Given the description of an element on the screen output the (x, y) to click on. 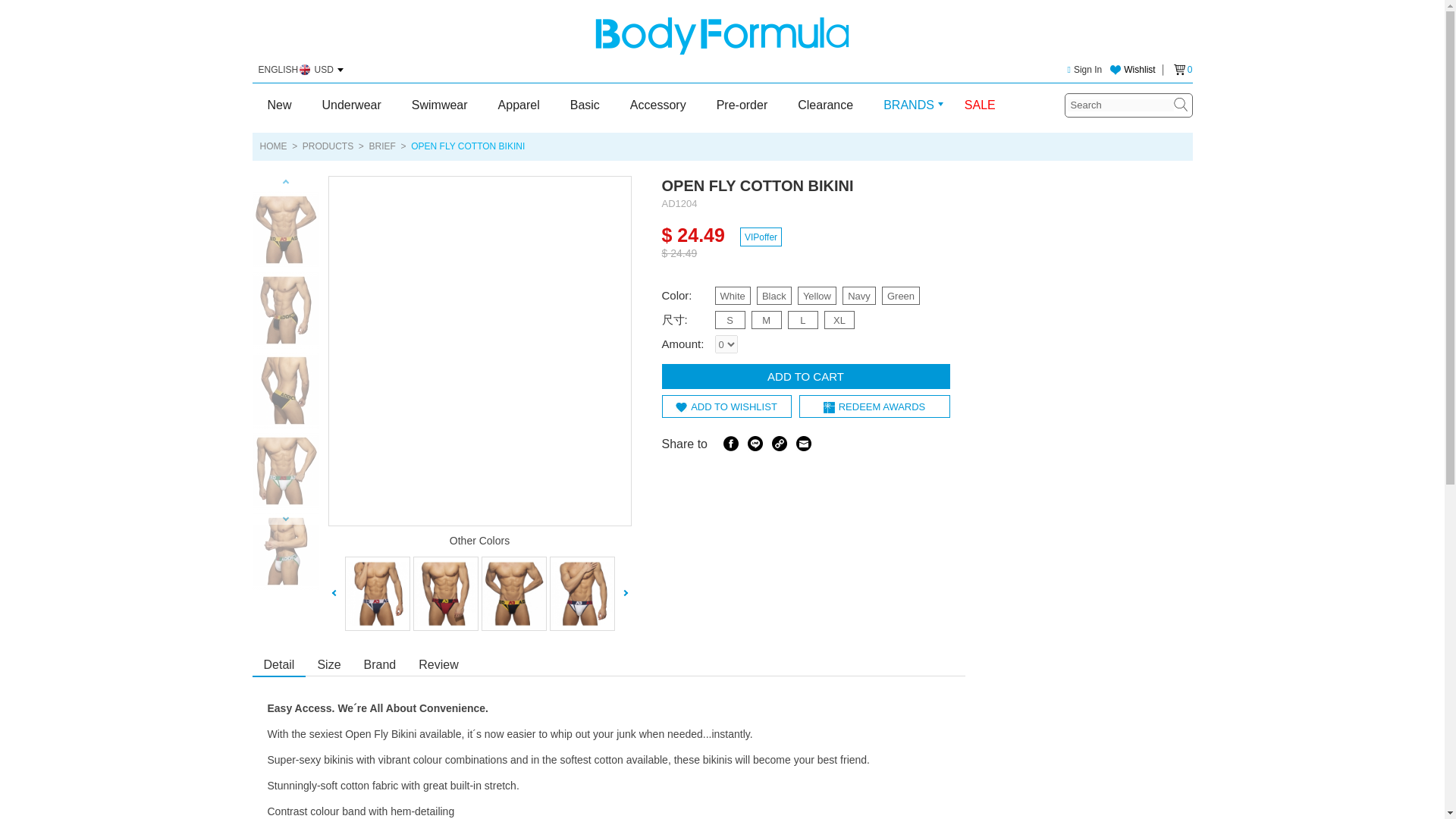
Wishlist (1131, 69)
Body Formula (722, 35)
Sign In (1084, 69)
Body Formula (722, 35)
Wishlist (1131, 69)
New (278, 105)
Sign In (1084, 69)
